Given the description of an element on the screen output the (x, y) to click on. 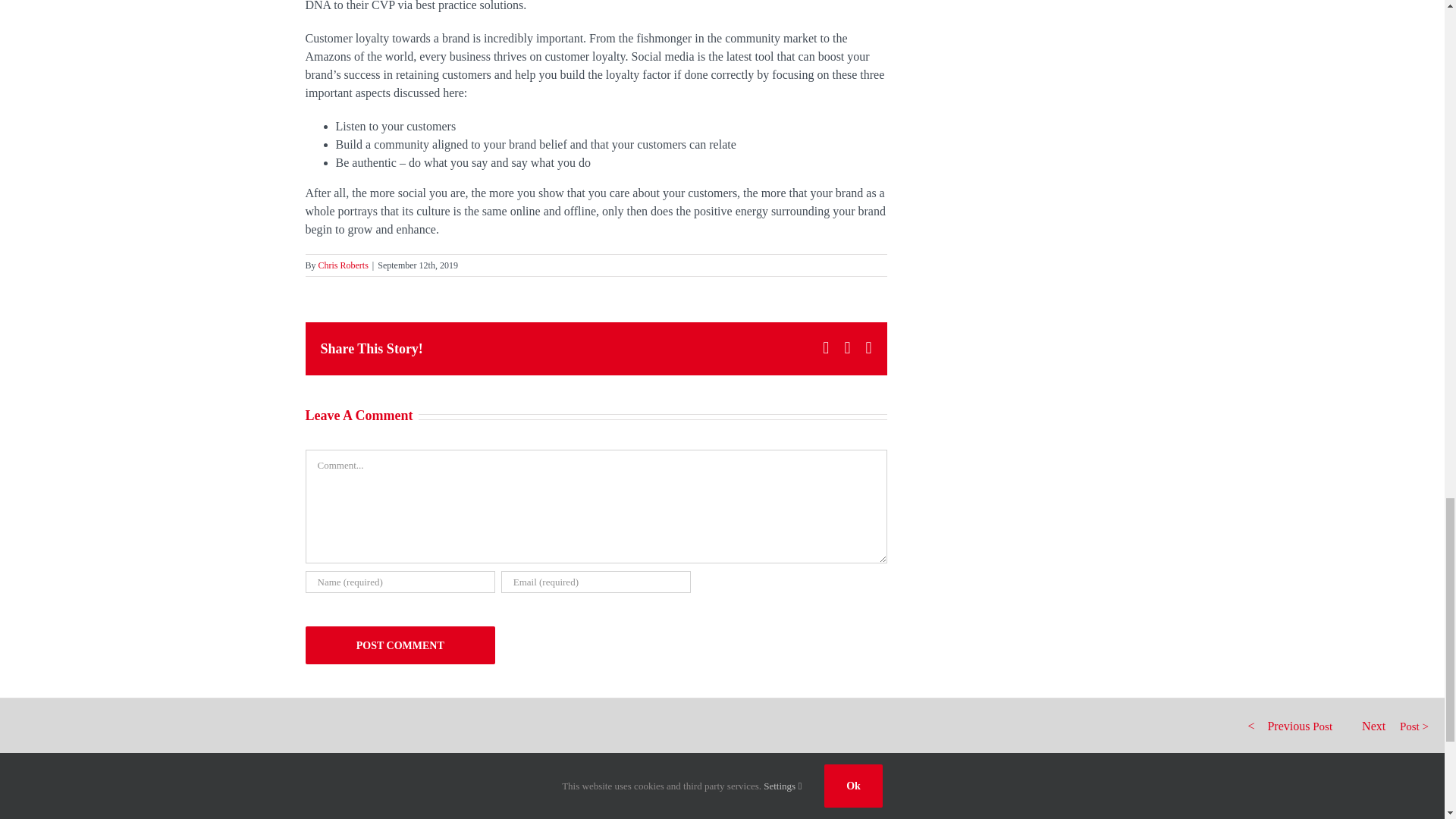
Post Comment (399, 645)
Posts by Chris Roberts (343, 265)
